Given the description of an element on the screen output the (x, y) to click on. 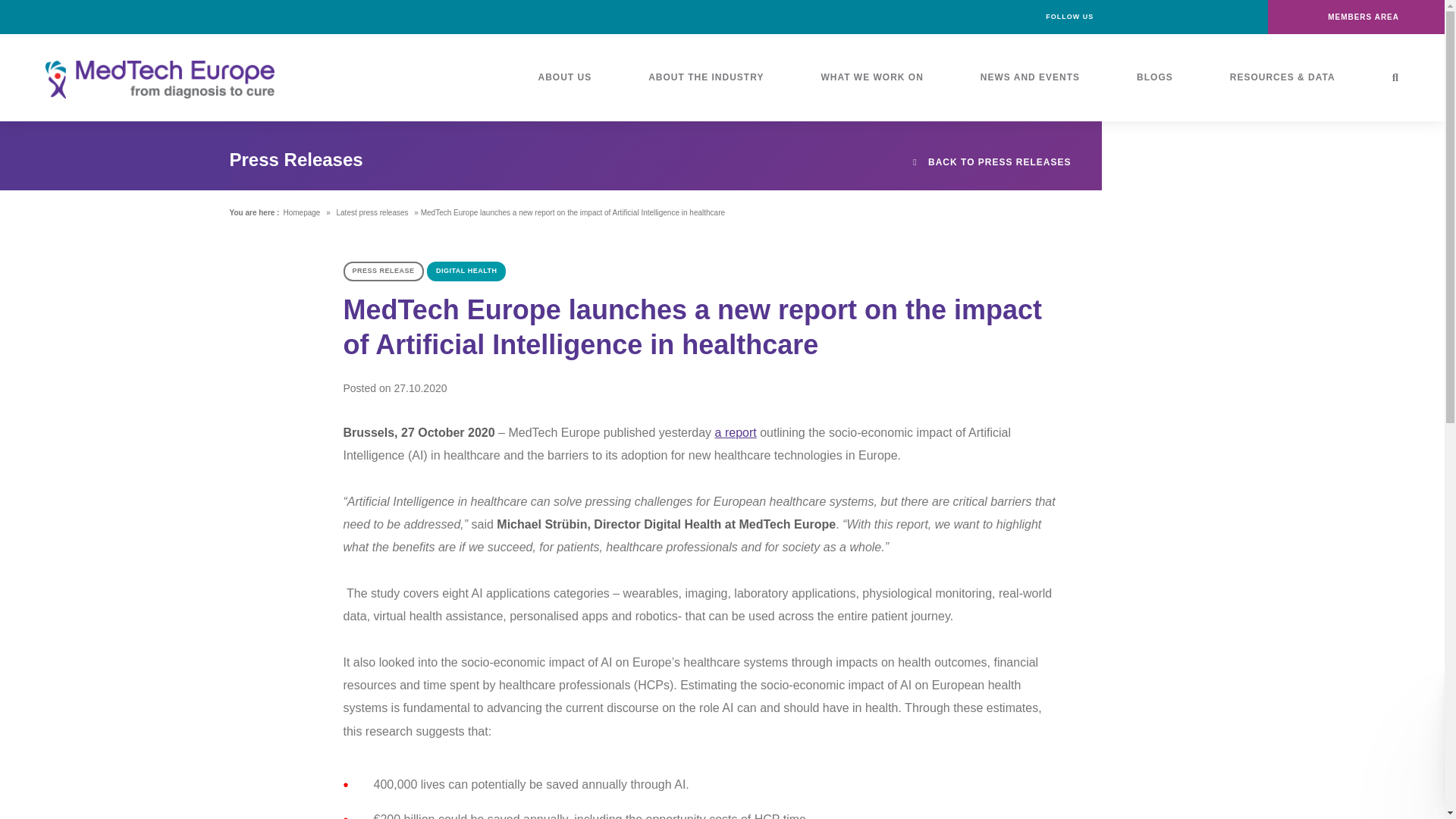
Twitter (1186, 17)
WHAT WE WORK ON (877, 77)
Youtube (1220, 17)
ABOUT THE INDUSTRY (710, 77)
MEMBERS AREA (1356, 17)
Facebook (1117, 17)
Linkedin (1152, 17)
